Given the description of an element on the screen output the (x, y) to click on. 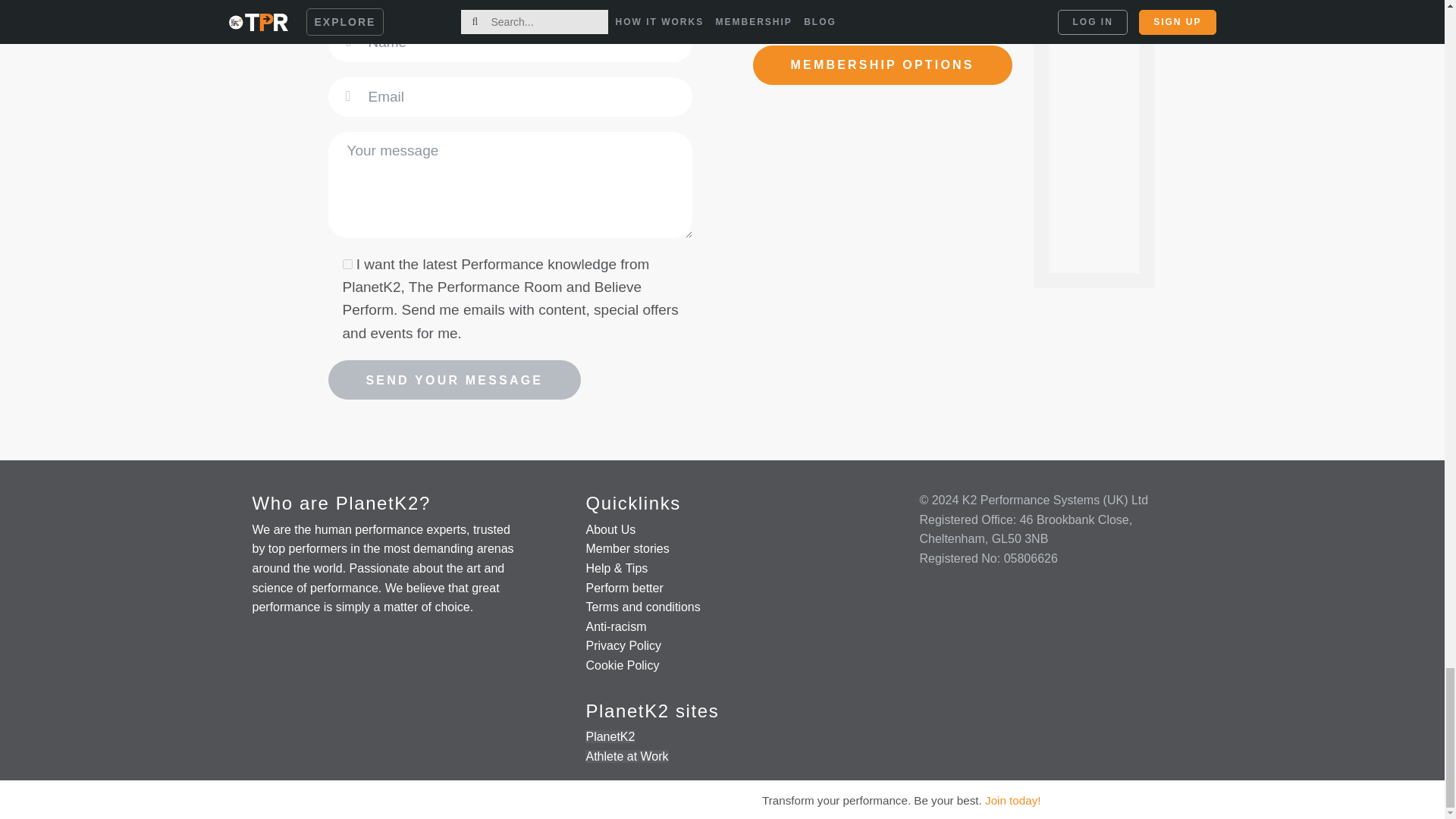
Send your message (453, 379)
